Given the description of an element on the screen output the (x, y) to click on. 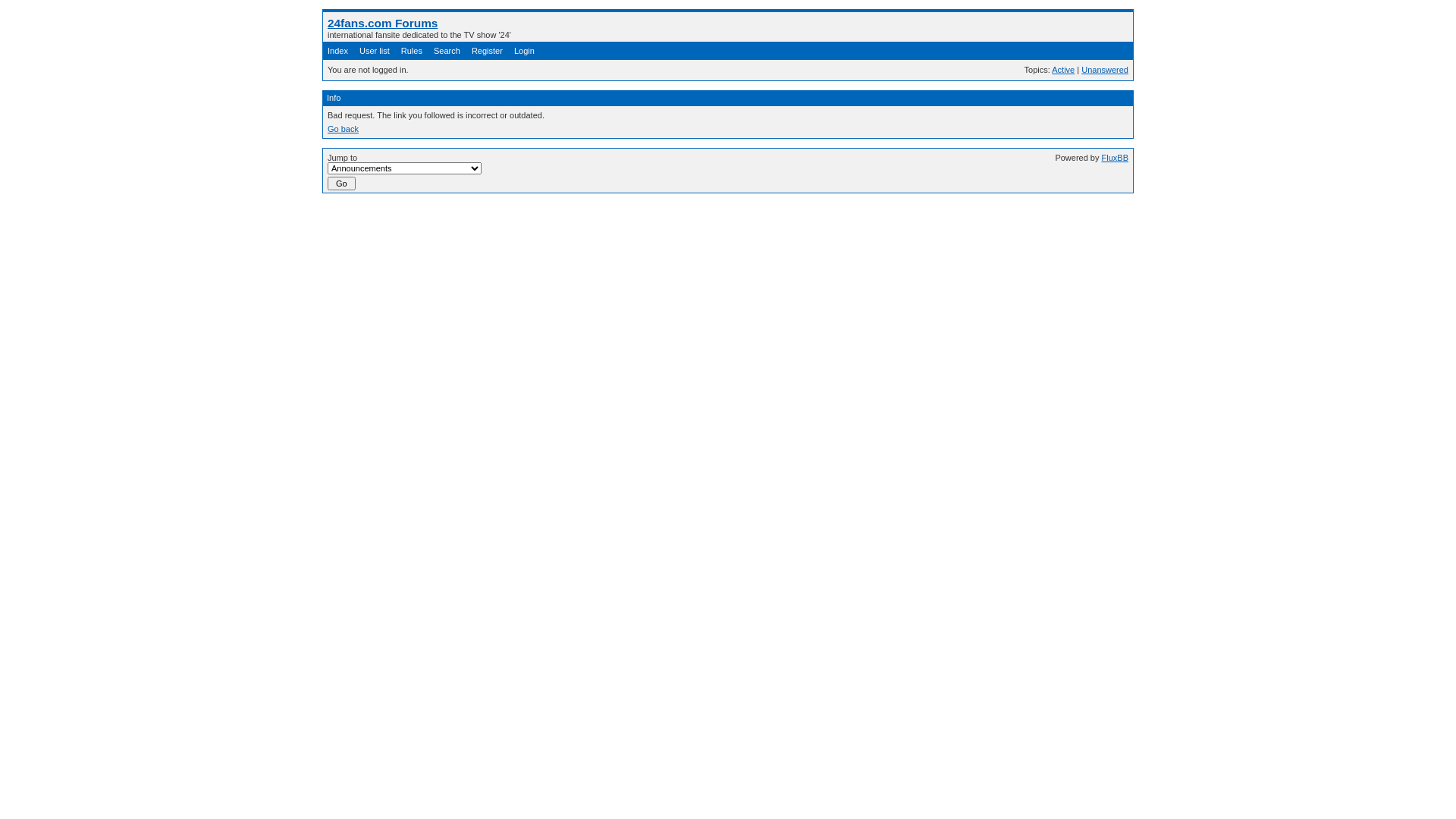
Register Element type: text (486, 50)
Login Element type: text (524, 50)
 Go  Element type: text (341, 183)
User list Element type: text (374, 50)
Index Element type: text (337, 50)
Rules Element type: text (411, 50)
24fans.com Forums Element type: text (382, 22)
Search Element type: text (446, 50)
Go back Element type: text (342, 128)
Unanswered Element type: text (1104, 69)
Active Element type: text (1062, 69)
FluxBB Element type: text (1114, 157)
